Given the description of an element on the screen output the (x, y) to click on. 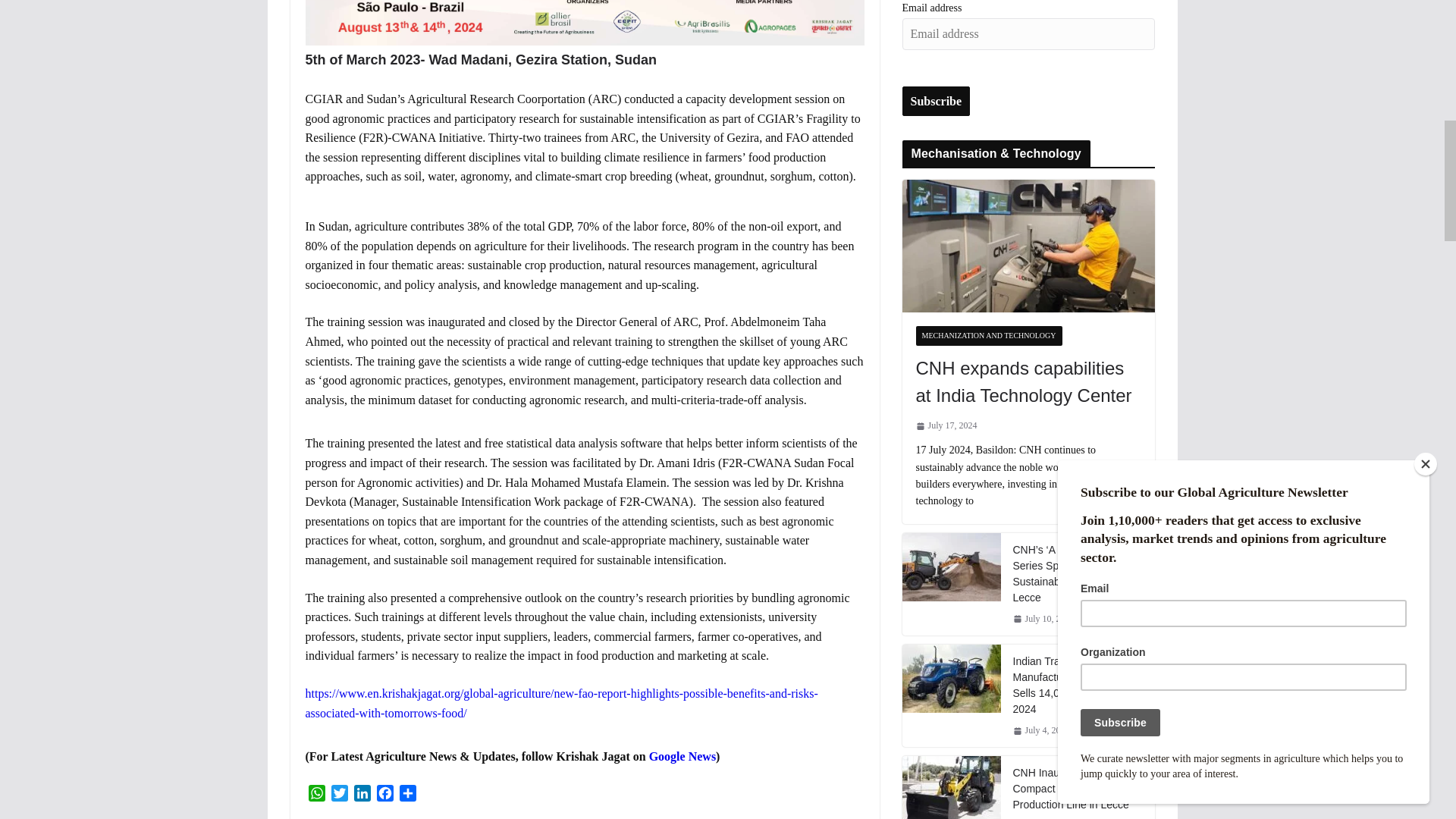
Twitter (338, 794)
Facebook (384, 794)
Subscribe (936, 101)
WhatsApp (315, 794)
LinkedIn (361, 794)
